Given the description of an element on the screen output the (x, y) to click on. 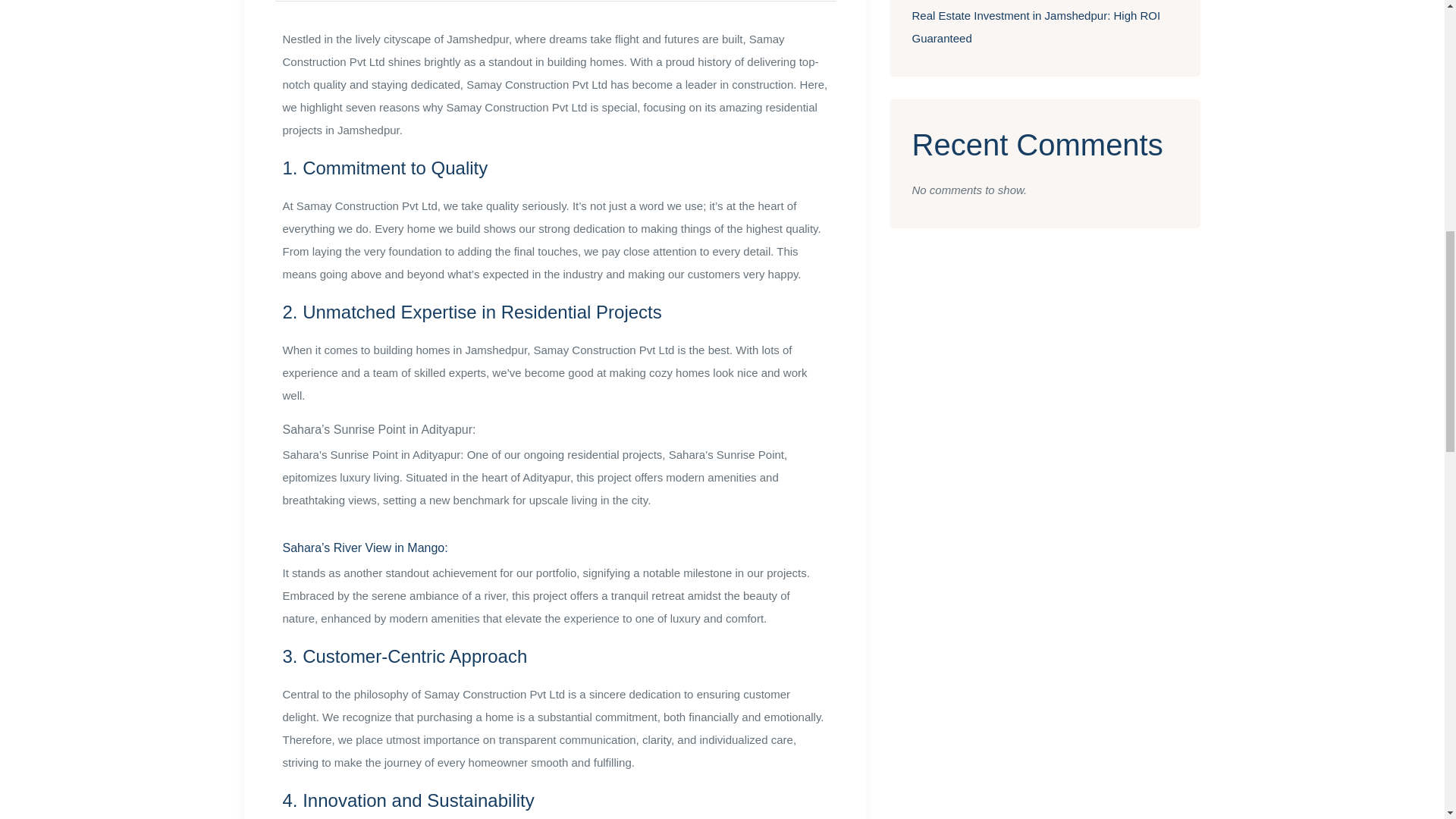
Samay Construction Pvt Ltd (606, 349)
